Given the description of an element on the screen output the (x, y) to click on. 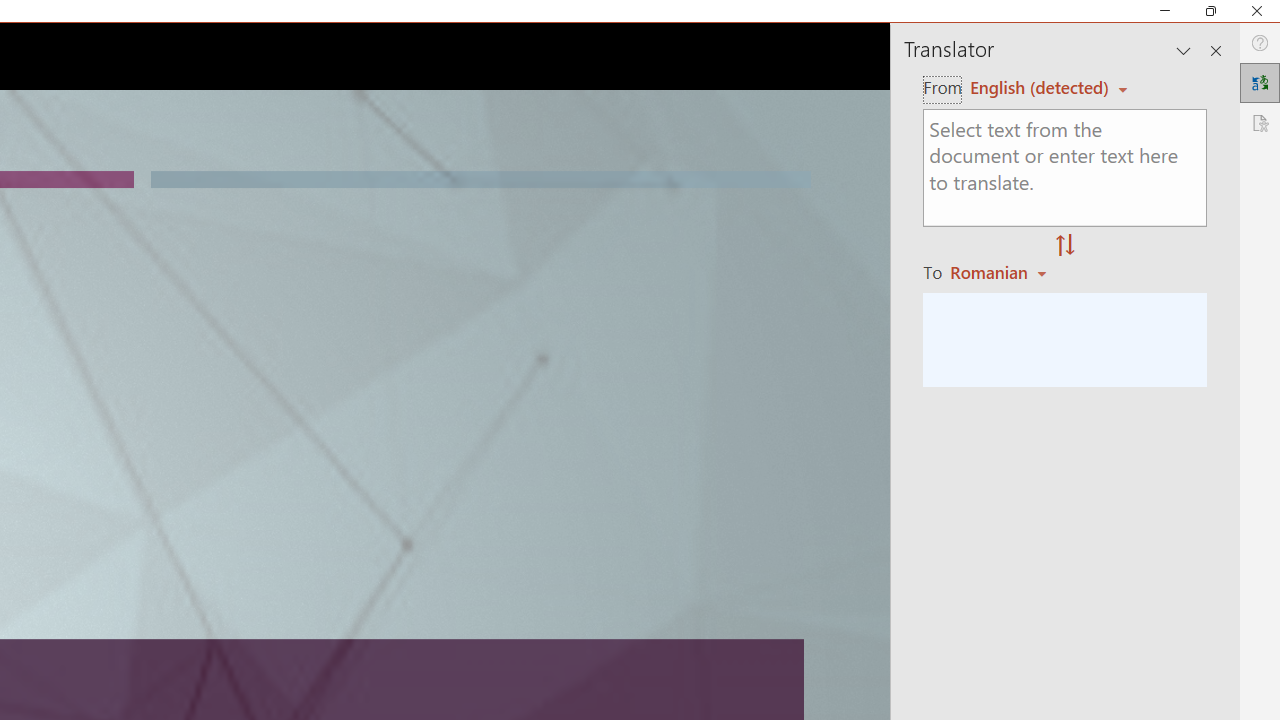
Czech (detected) (1039, 87)
Romanian (1001, 272)
Swap "from" and "to" languages. (1065, 245)
